Given the description of an element on the screen output the (x, y) to click on. 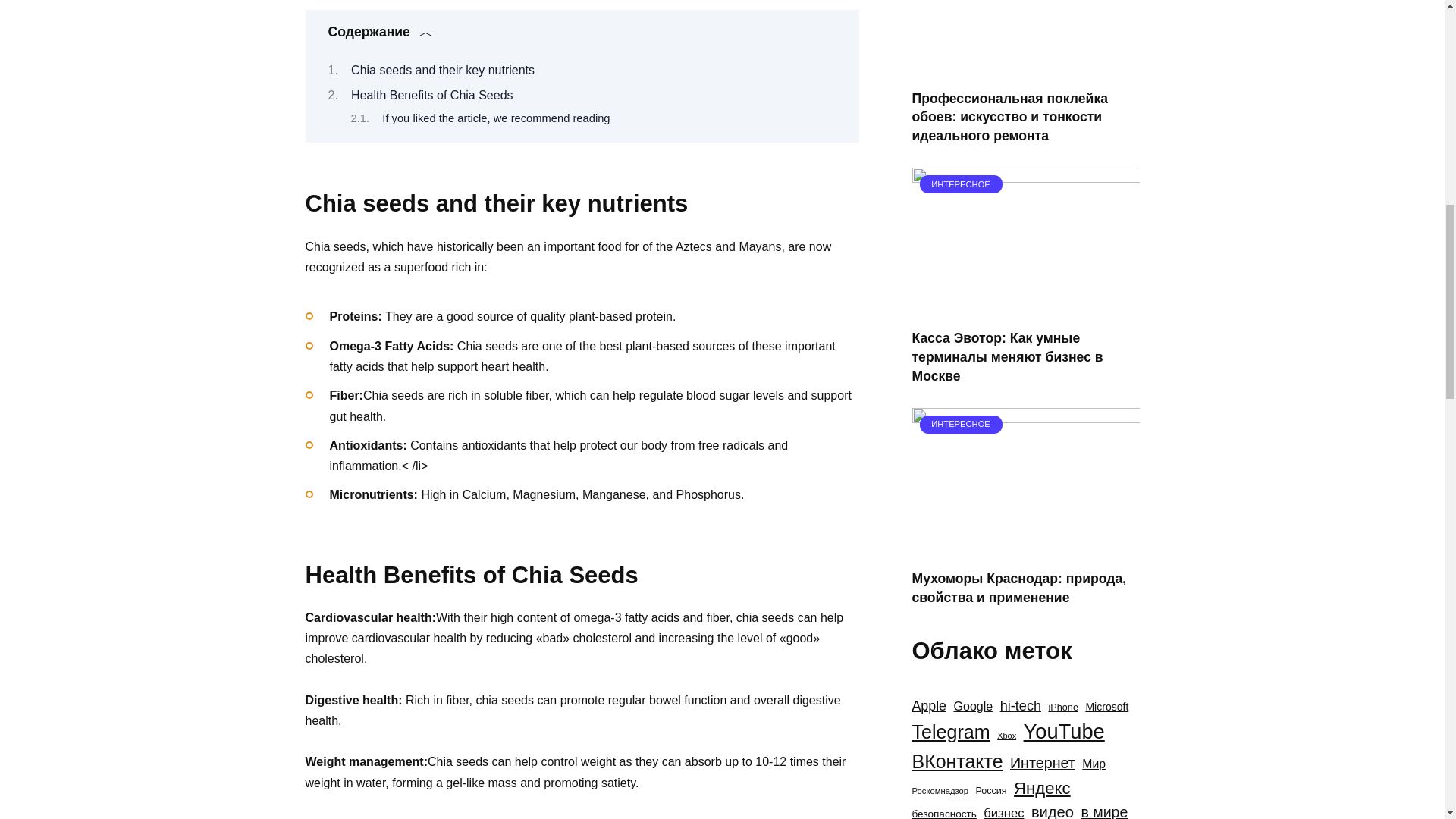
Chia seeds and their key nutrients (442, 69)
Health Benefits of Chia Seeds (431, 94)
If you liked the article, we recommend reading (495, 118)
